Given the description of an element on the screen output the (x, y) to click on. 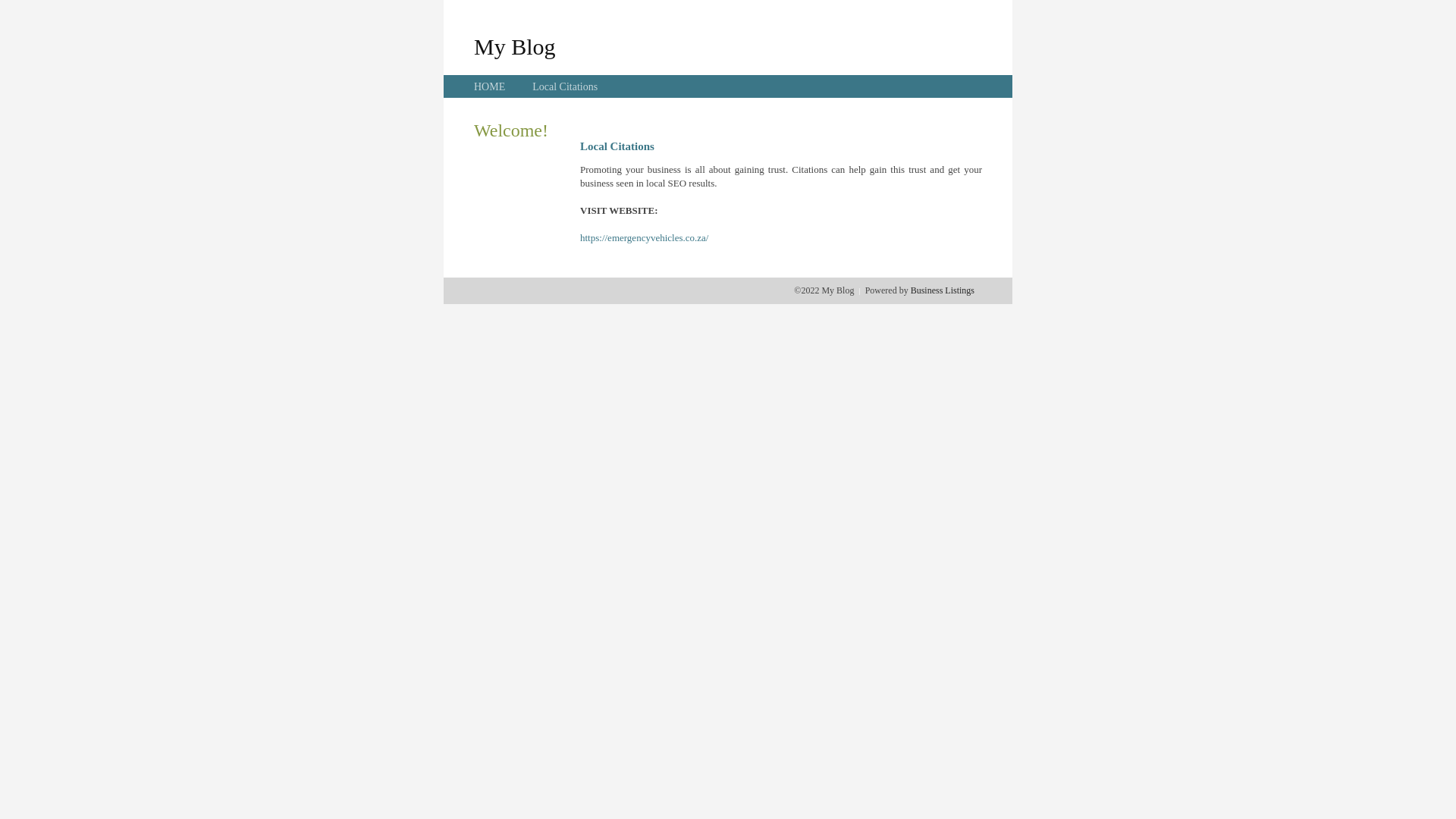
Business Listings Element type: text (942, 290)
Local Citations Element type: text (564, 86)
My Blog Element type: text (514, 46)
HOME Element type: text (489, 86)
https://emergencyvehicles.co.za/ Element type: text (644, 237)
